Given the description of an element on the screen output the (x, y) to click on. 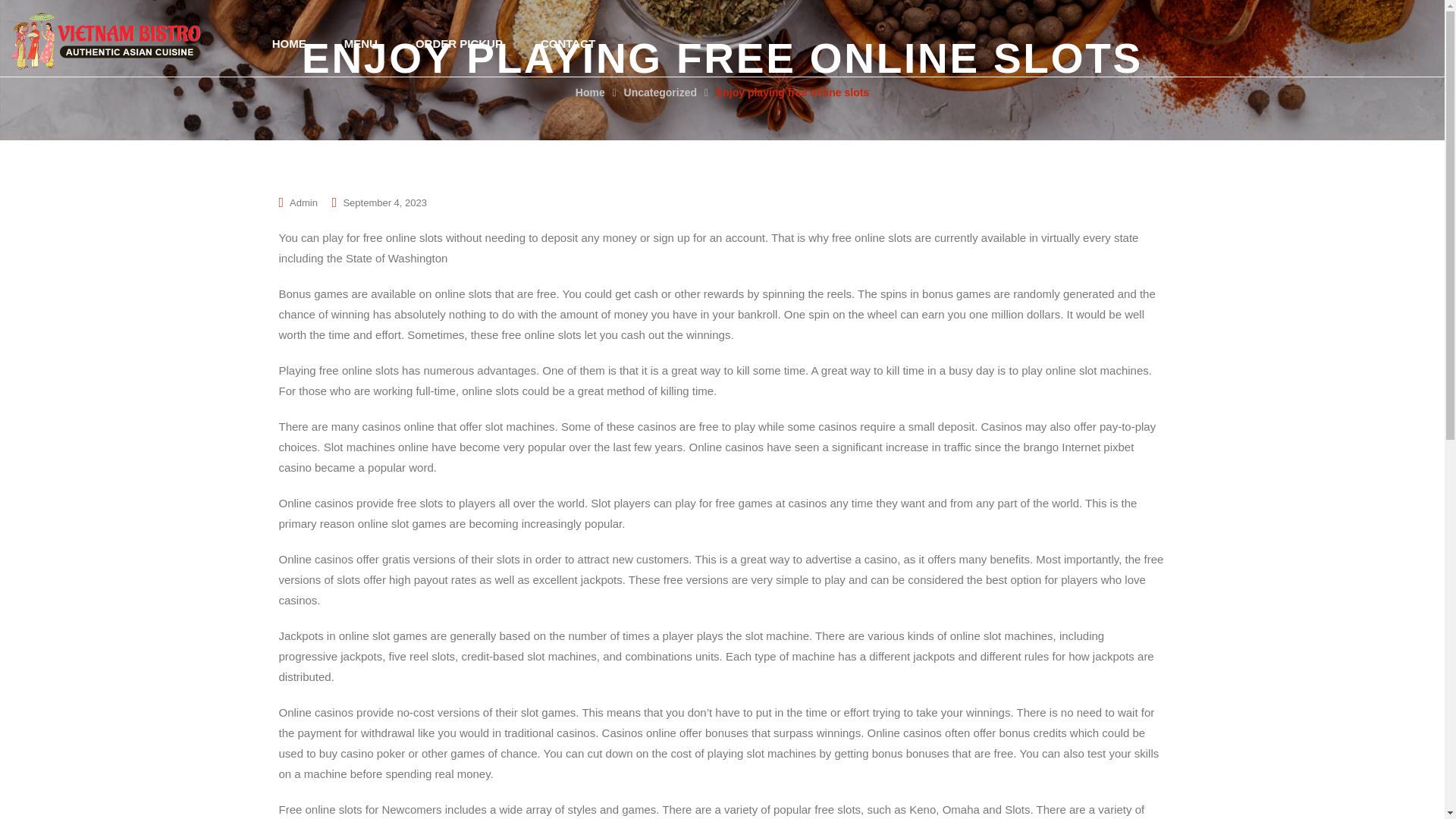
Uncategorized (660, 92)
CONTACT (567, 42)
MENU (360, 42)
HOME (288, 42)
brango (1040, 446)
ORDER PICKUP (458, 42)
Admin (303, 202)
Home (590, 92)
pixbet casino (706, 457)
Uncategorized (660, 92)
